Given the description of an element on the screen output the (x, y) to click on. 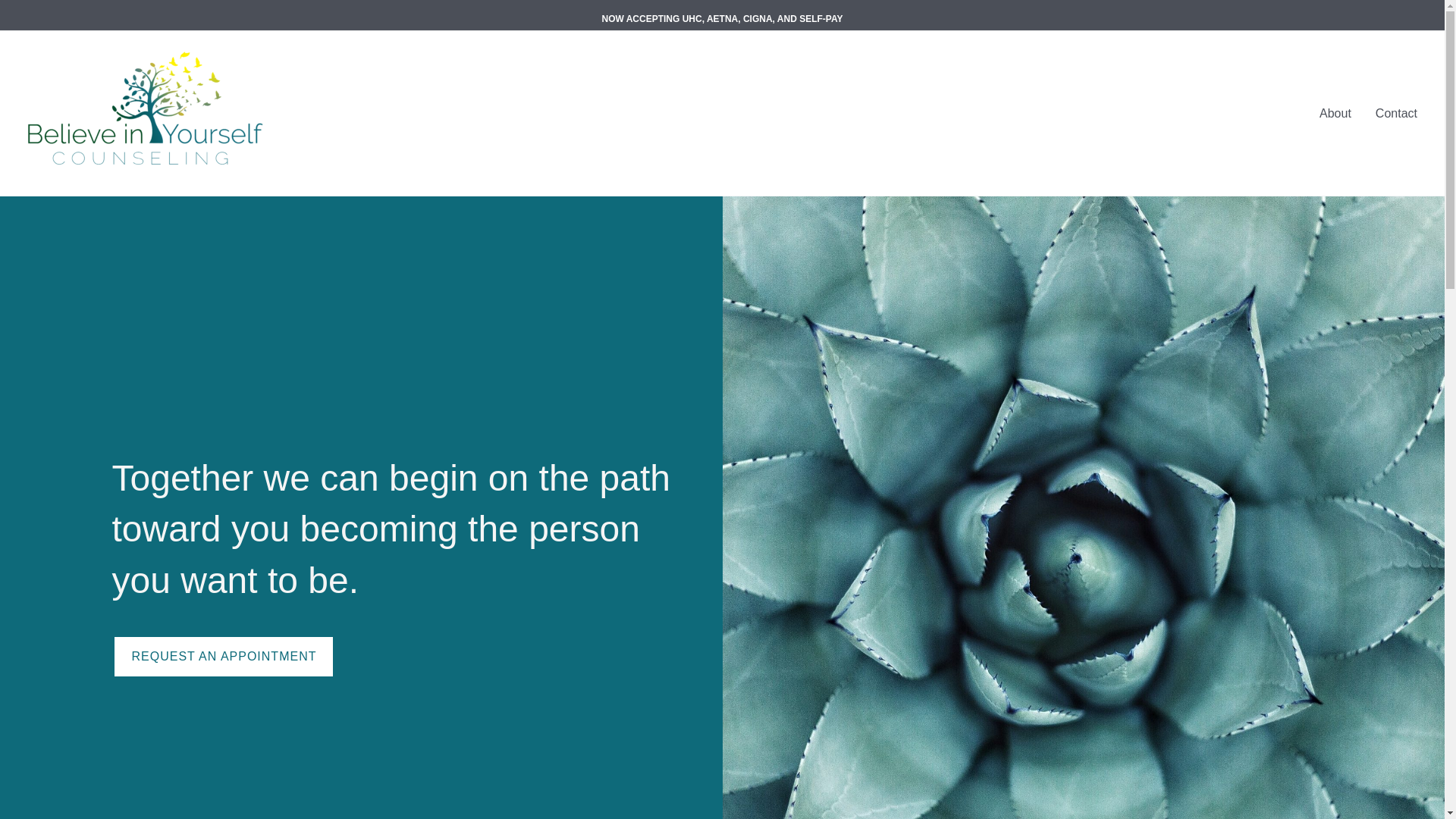
Contact (1395, 113)
About (1334, 113)
REQUEST AN APPOINTMENT (223, 656)
